Given the description of an element on the screen output the (x, y) to click on. 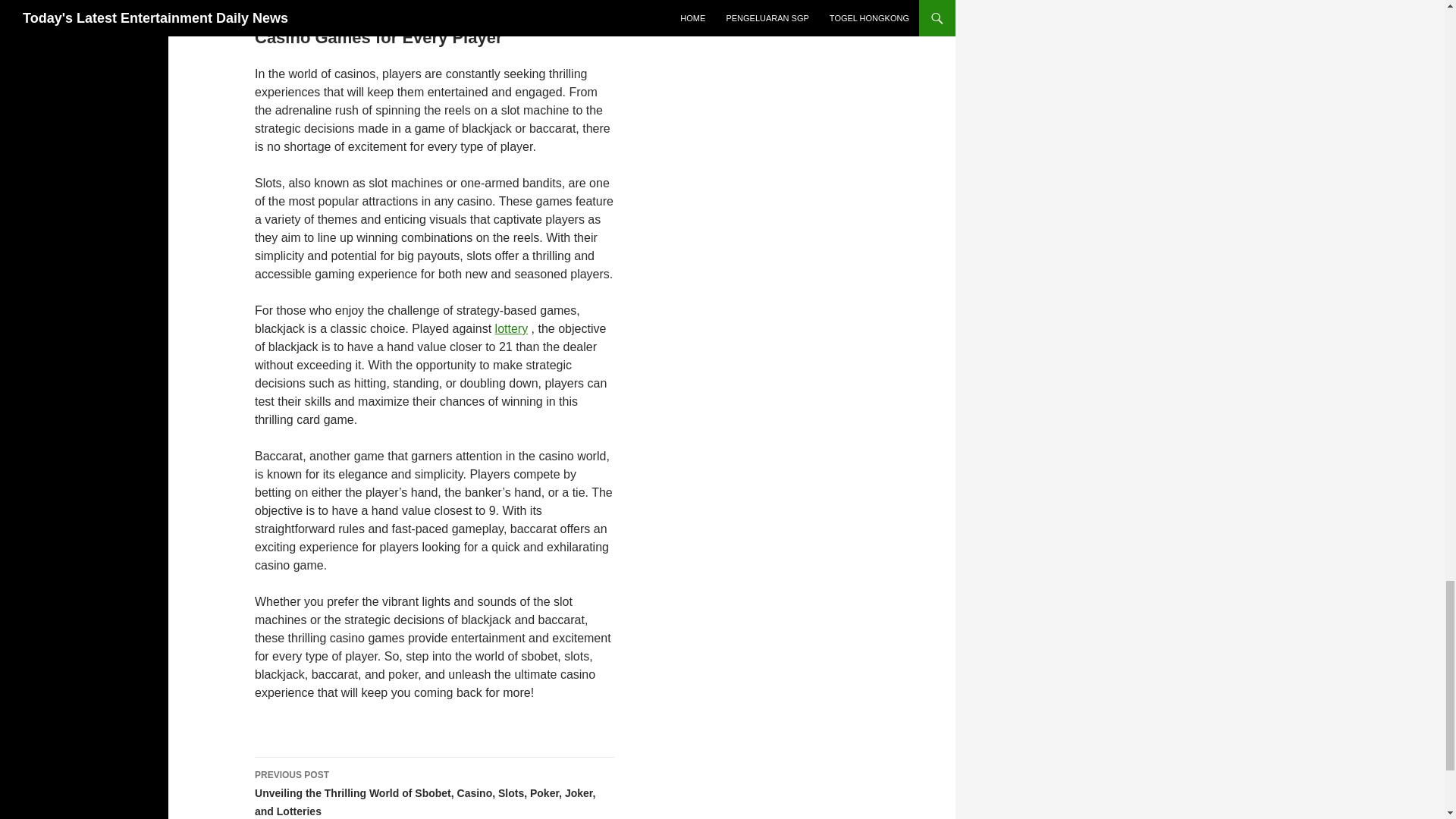
lottery (511, 328)
